Given the description of an element on the screen output the (x, y) to click on. 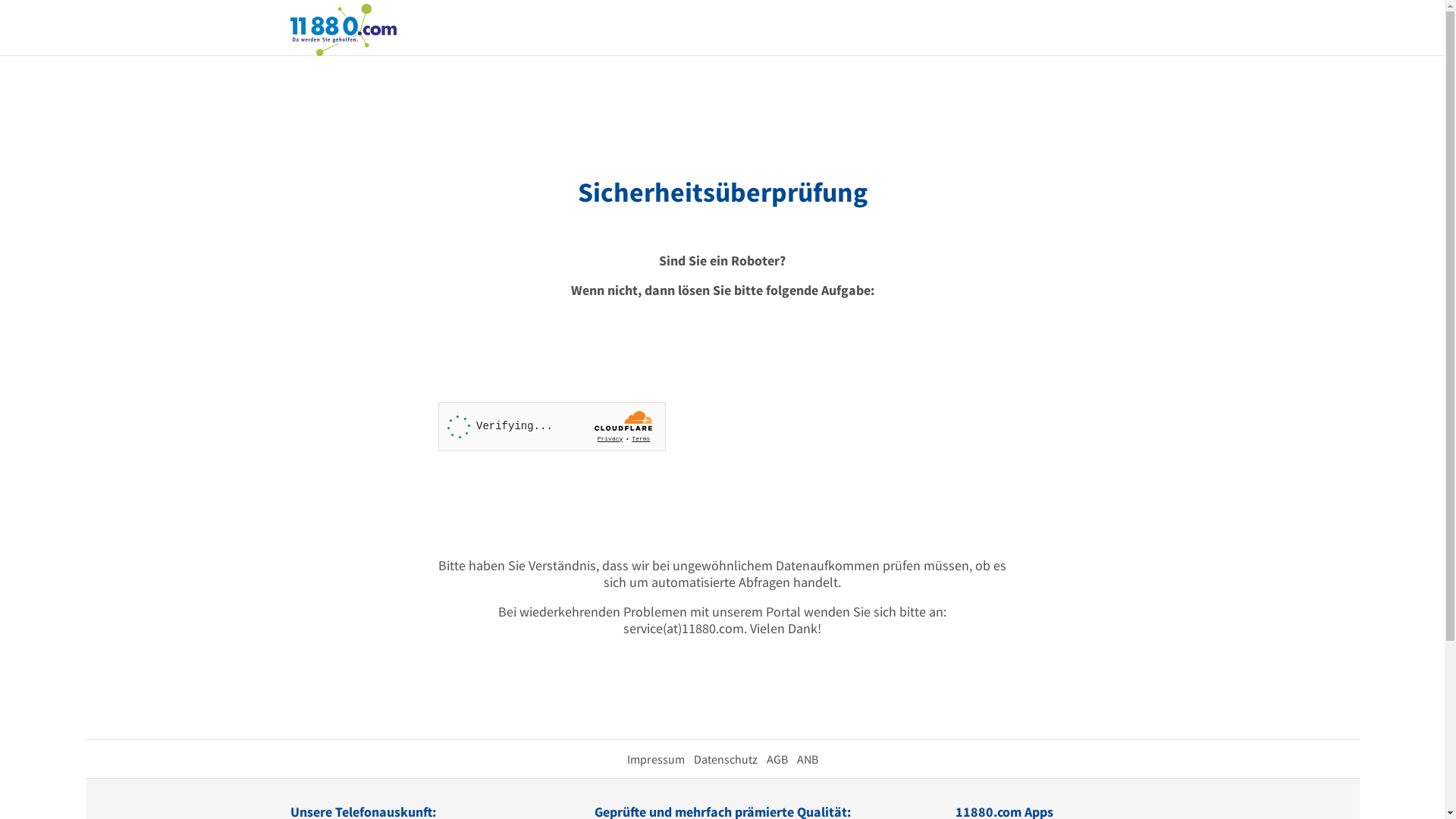
AGB Element type: text (776, 758)
Datenschutz Element type: text (724, 758)
ANB Element type: text (806, 758)
11880.com Element type: hover (342, 28)
Widget containing a Cloudflare security challenge Element type: hover (551, 426)
Impressum Element type: text (655, 758)
